Given the description of an element on the screen output the (x, y) to click on. 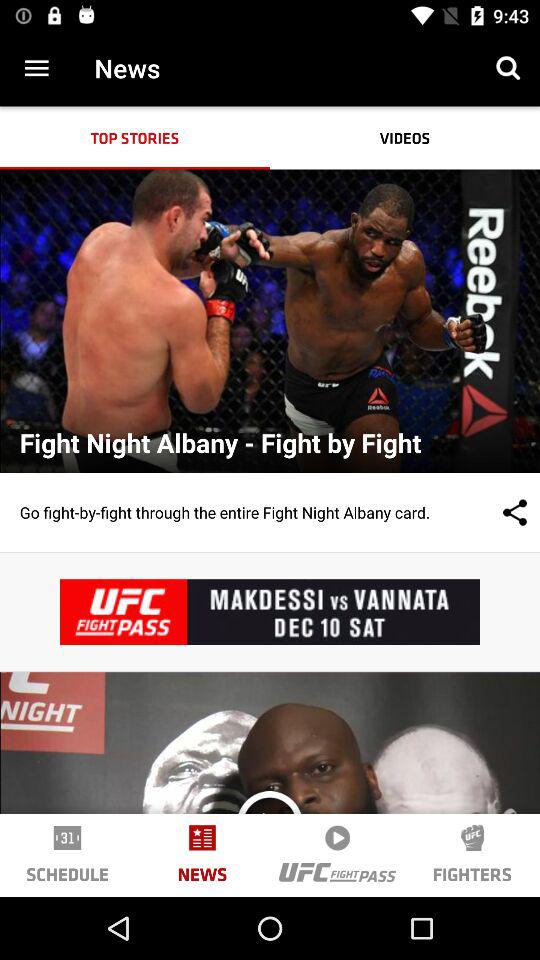
launch the icon next to the news icon (269, 823)
